Given the description of an element on the screen output the (x, y) to click on. 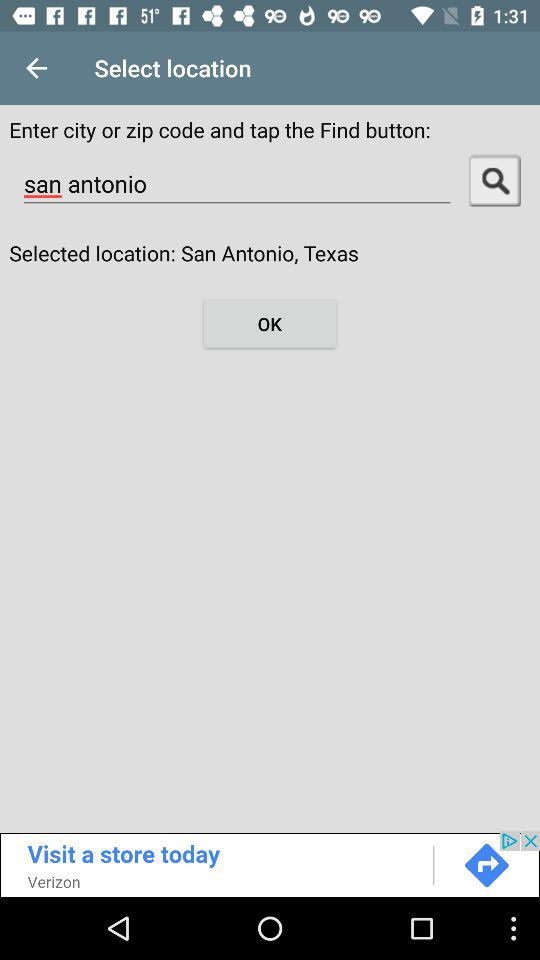
link to advertisement (270, 864)
